Given the description of an element on the screen output the (x, y) to click on. 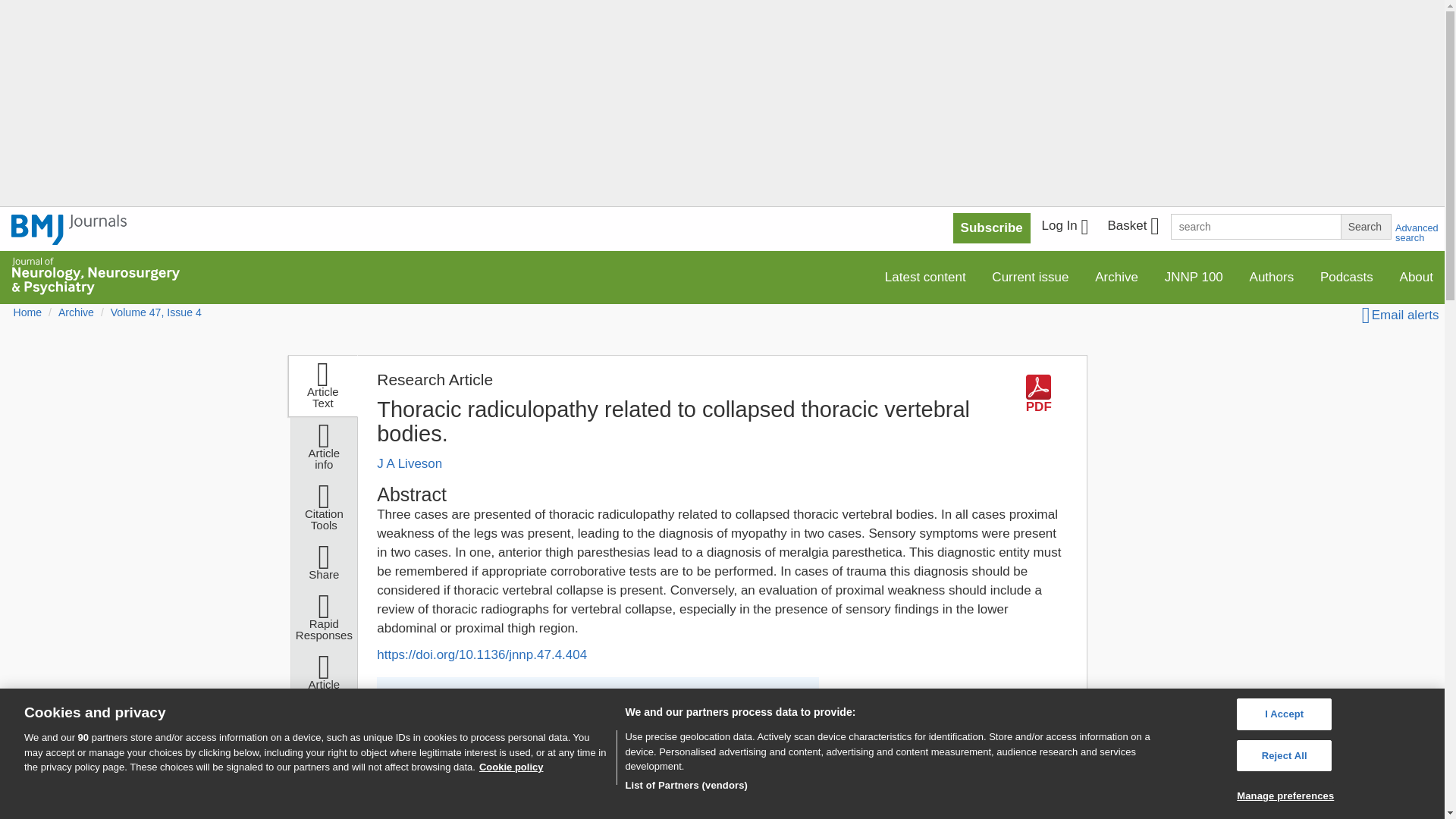
Latest content (924, 276)
Authors (1272, 276)
Advanced search (1416, 232)
Current issue (1029, 276)
Basket (1132, 228)
Search (1364, 226)
Search (1364, 226)
BMJ Journals (68, 229)
Log In (1064, 228)
